Given the description of an element on the screen output the (x, y) to click on. 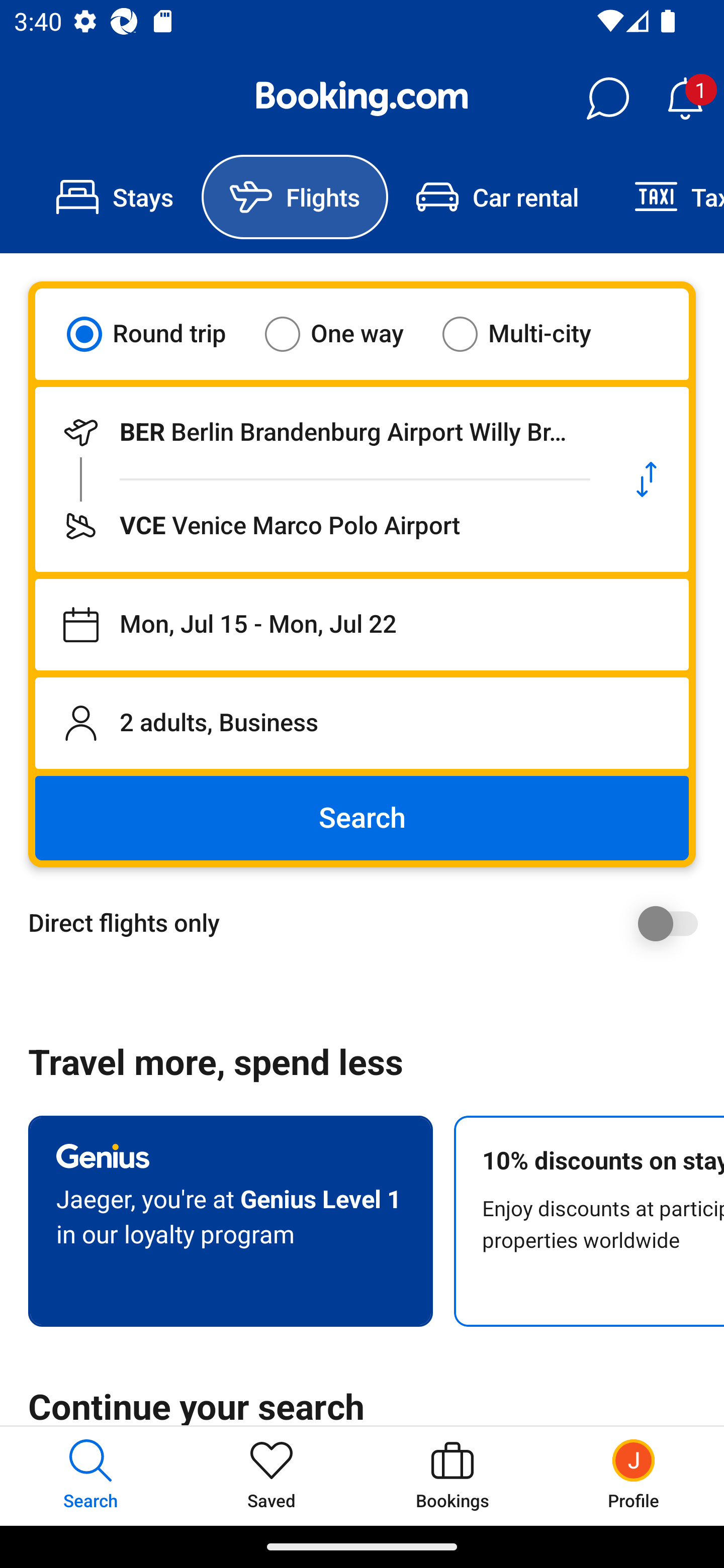
Messages (607, 98)
Notifications (685, 98)
Stays (114, 197)
Flights (294, 197)
Car rental (497, 197)
Taxi (665, 197)
One way (346, 333)
Multi-city (528, 333)
Swap departure location and destination (646, 479)
Flying to VCE Venice Marco Polo Airport (319, 525)
Departing on Mon, Jul 15, returning on Mon, Jul 22 (361, 624)
2 adults, Business (361, 722)
Search (361, 818)
Direct flights only (369, 923)
Saved (271, 1475)
Bookings (452, 1475)
Profile (633, 1475)
